Given the description of an element on the screen output the (x, y) to click on. 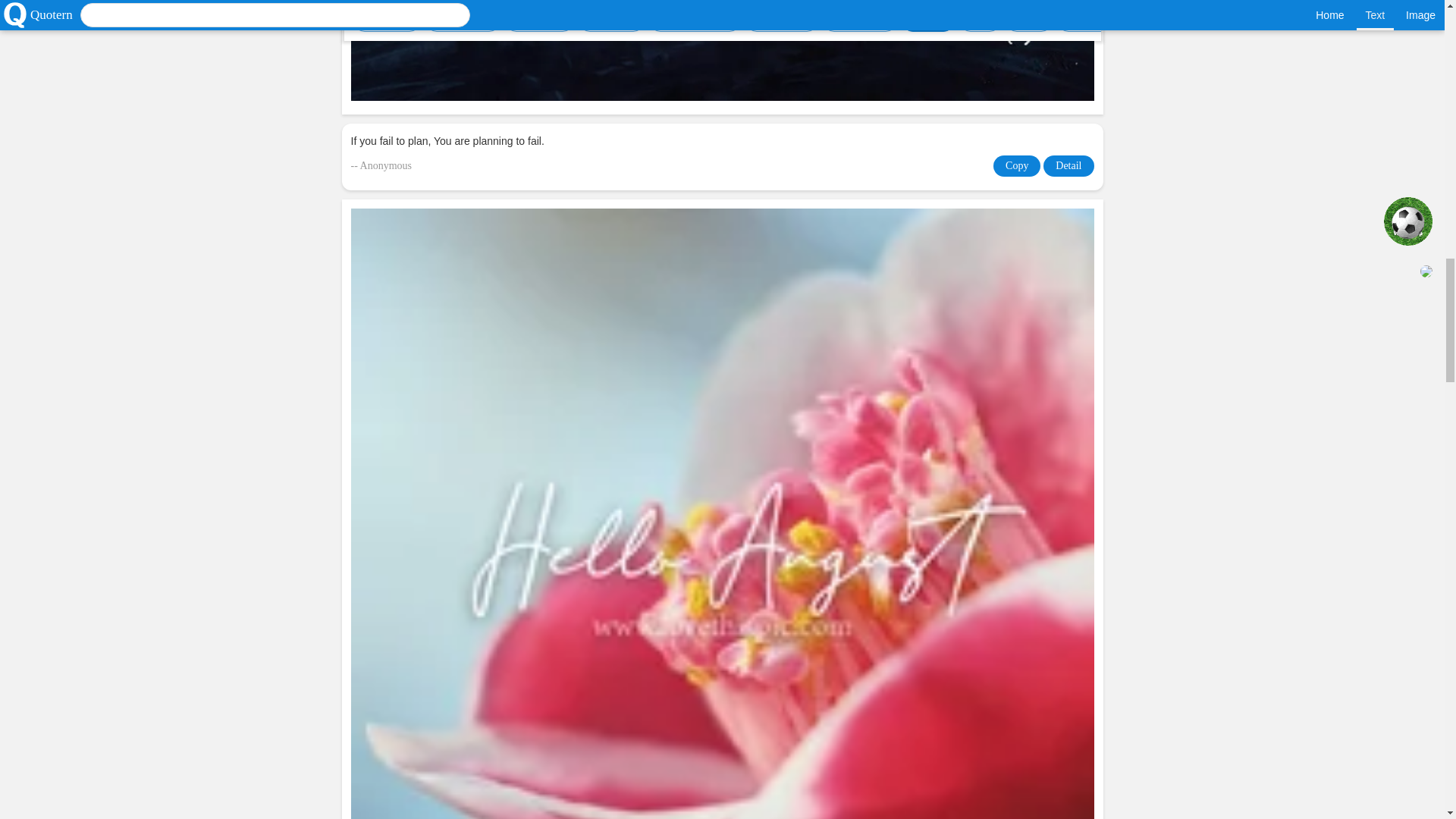
-- Anonymous (381, 165)
Copy (1016, 165)
Detail (1068, 165)
If you fail to plan, You are planning to fail. (721, 141)
